Given the description of an element on the screen output the (x, y) to click on. 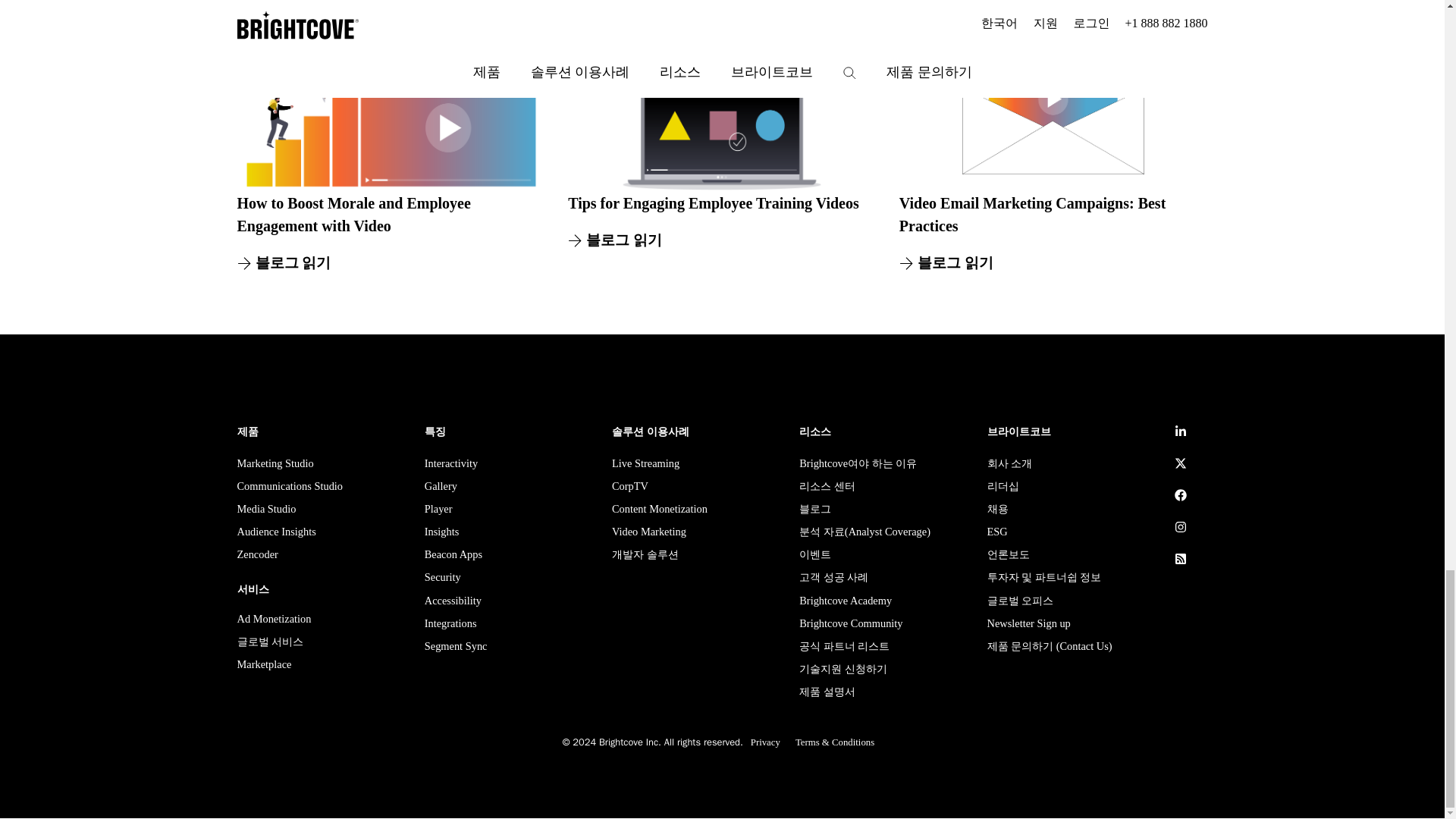
Marketing Studio (274, 465)
